Given the description of an element on the screen output the (x, y) to click on. 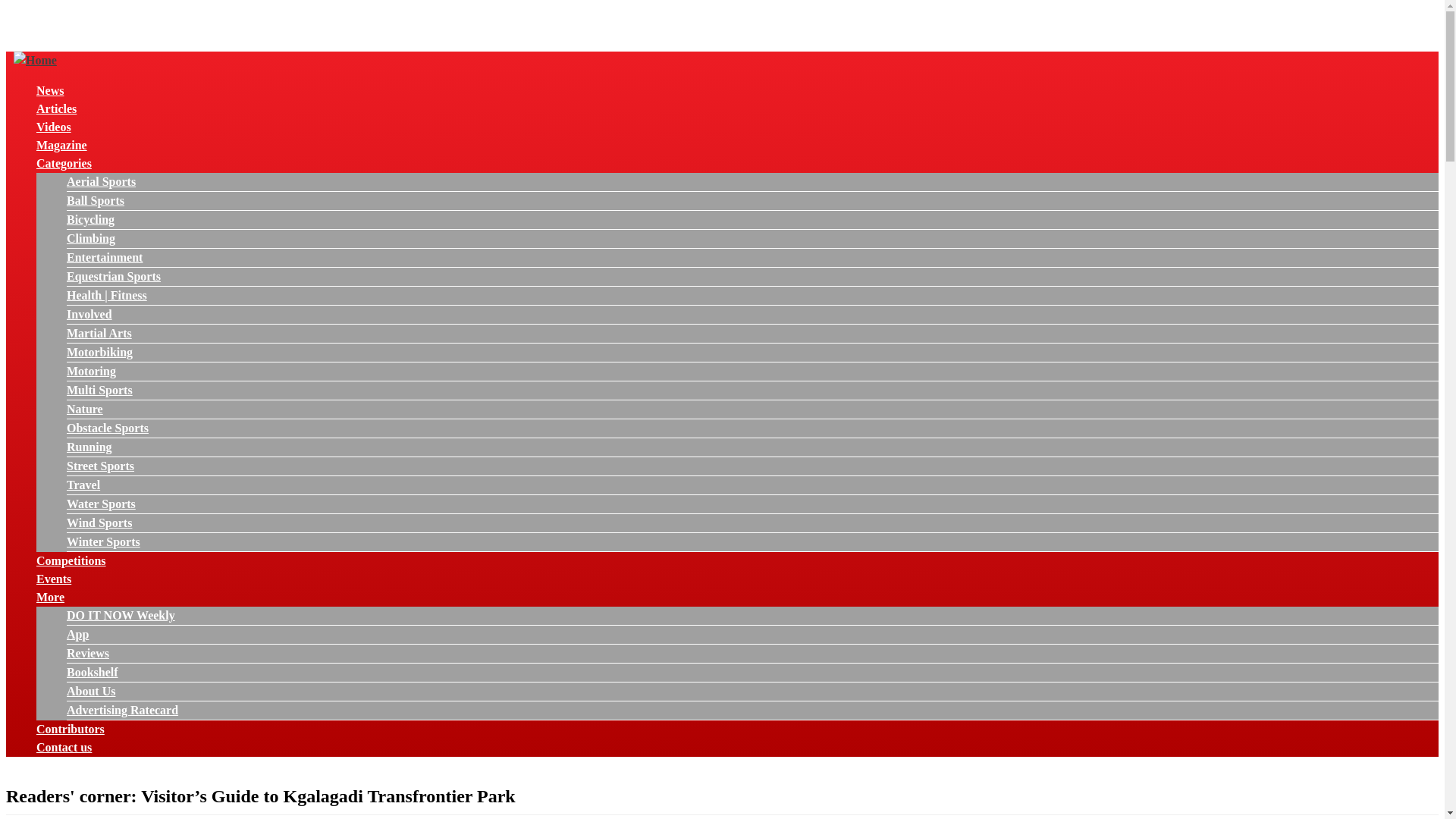
Martial Arts (99, 332)
DO IT NOW Weekly (120, 615)
News (50, 90)
Bicycling (90, 219)
Reviews (87, 653)
Involved (89, 314)
Ball Sports (94, 200)
Competitions (71, 560)
Entertainment (104, 256)
Street Sports (99, 465)
